Given the description of an element on the screen output the (x, y) to click on. 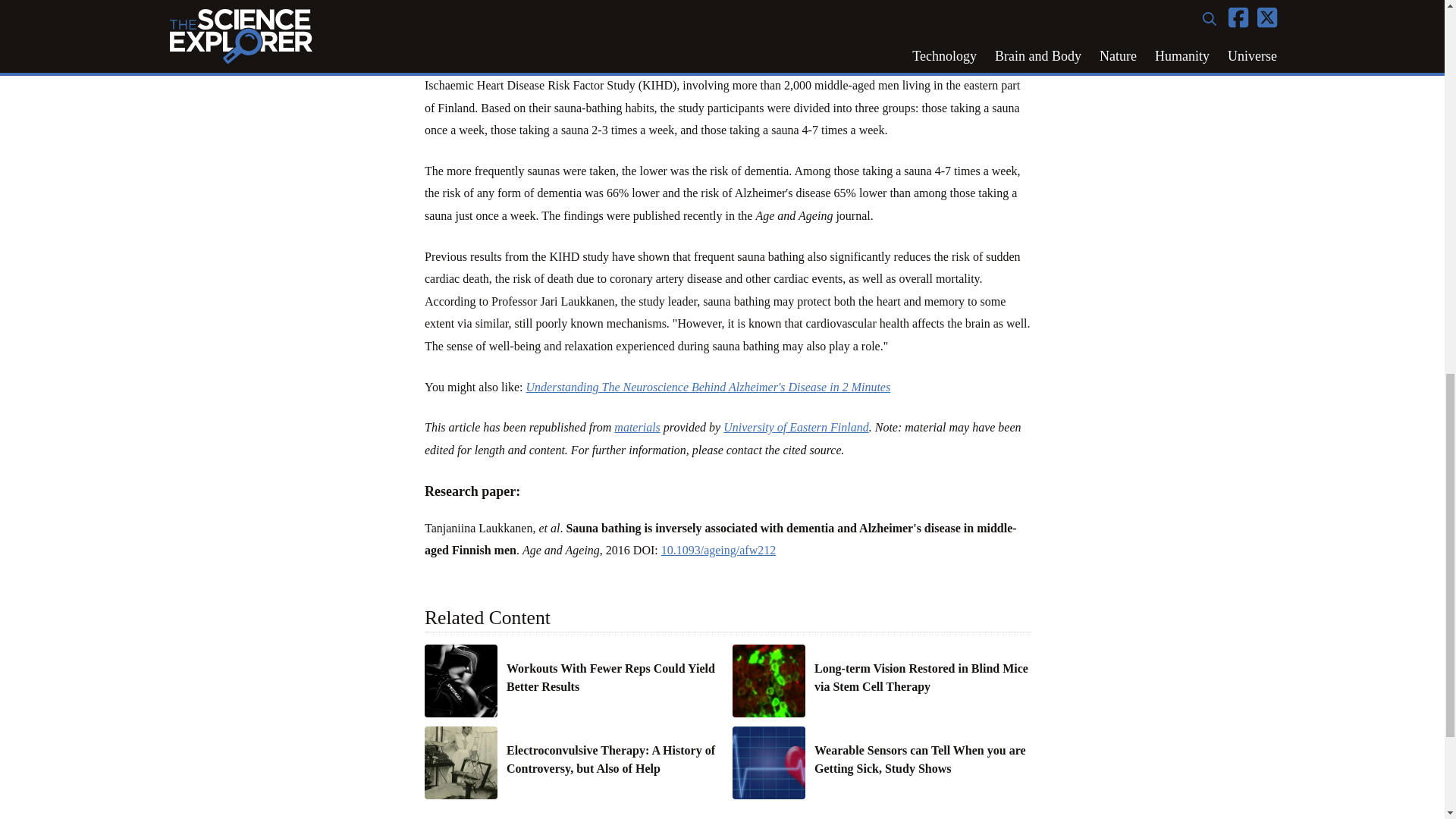
materials (636, 427)
Workouts With Fewer Reps Could Yield Better Results (614, 678)
University of Eastern Finland (796, 427)
